Given the description of an element on the screen output the (x, y) to click on. 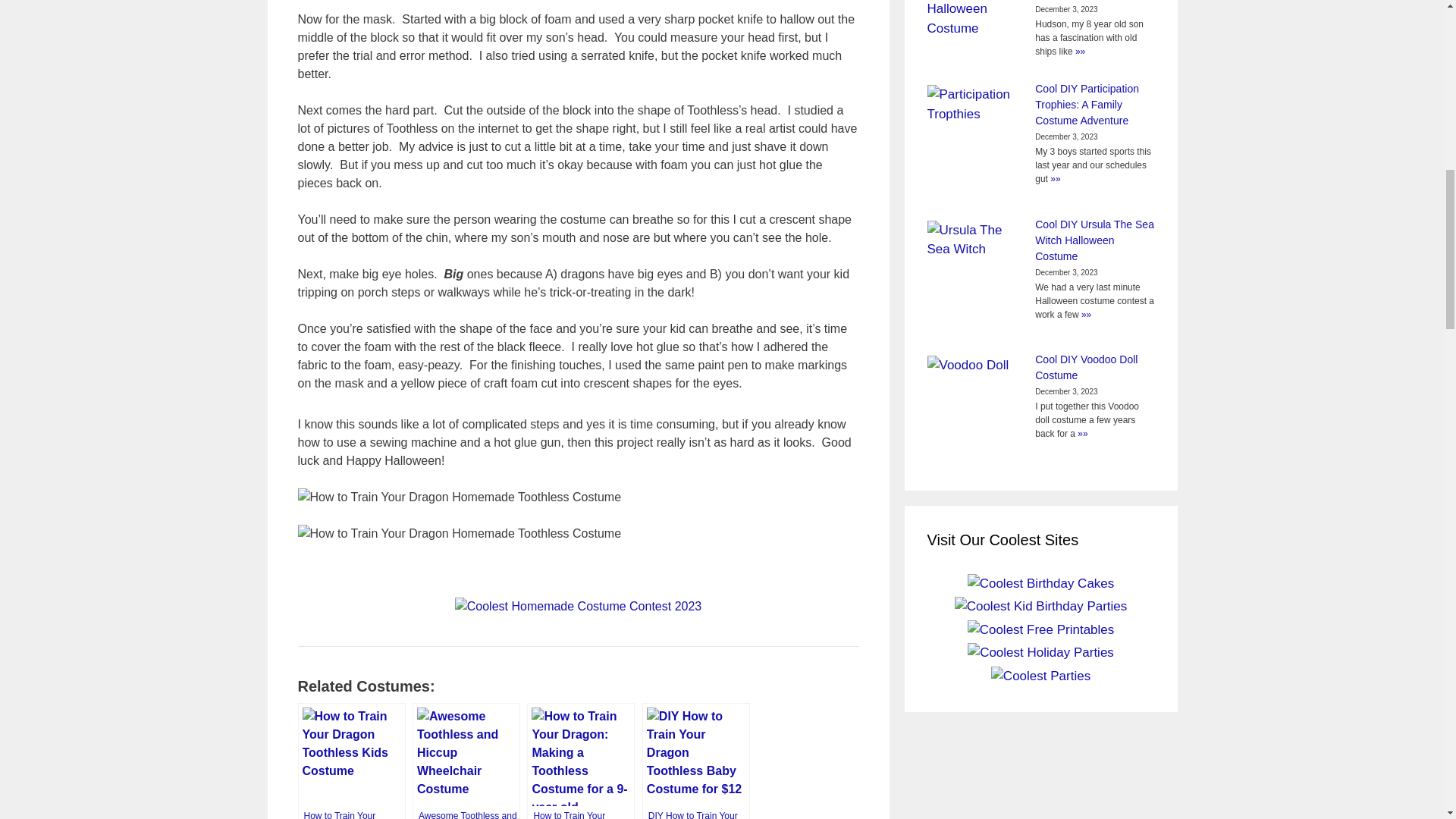
Awesome Toothless and Hiccup Wheelchair Costume (465, 760)
How to Train Your Dragon Toothless Kids Costume (350, 760)
